Given the description of an element on the screen output the (x, y) to click on. 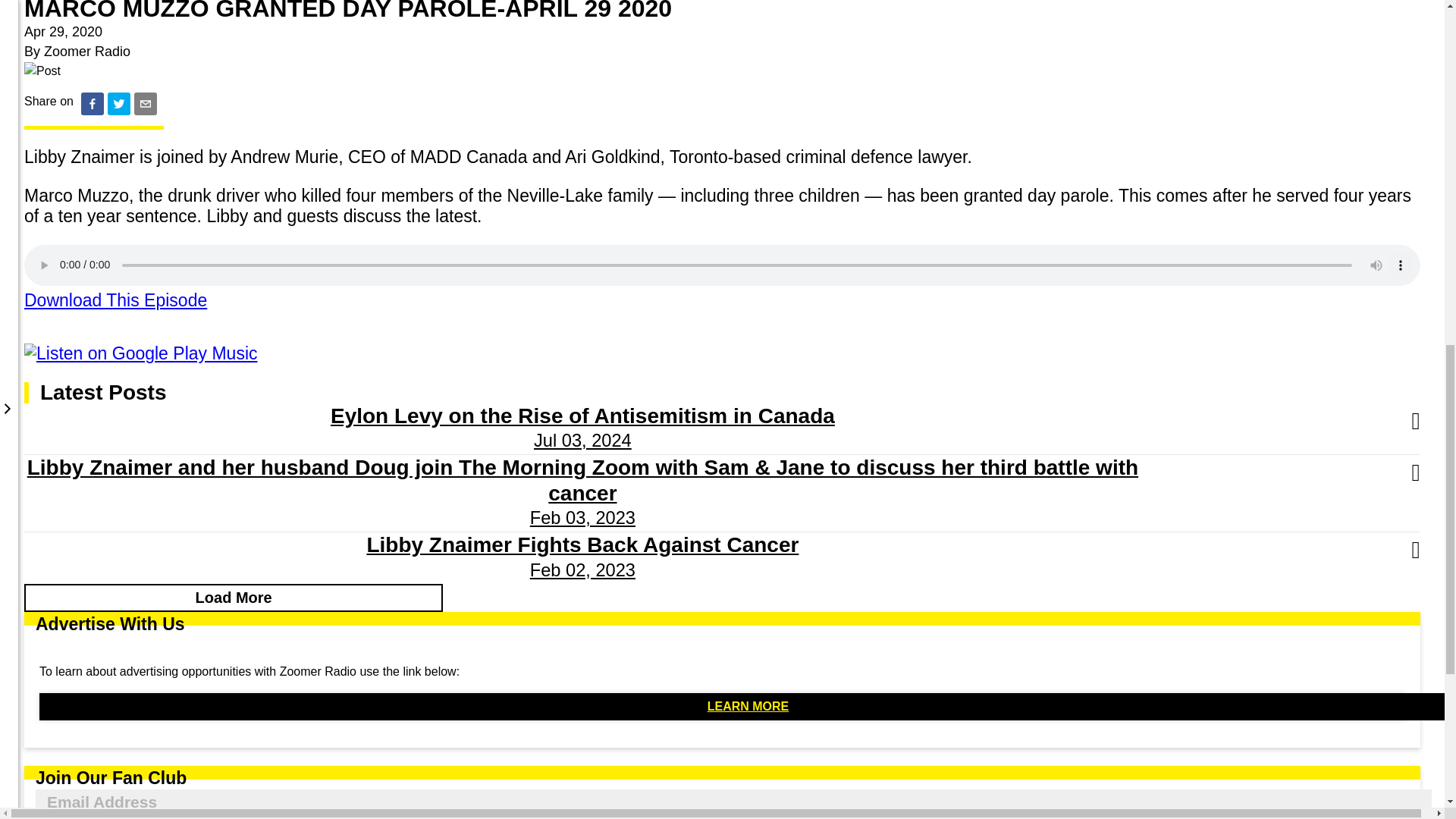
Download This Episode (115, 300)
